Given the description of an element on the screen output the (x, y) to click on. 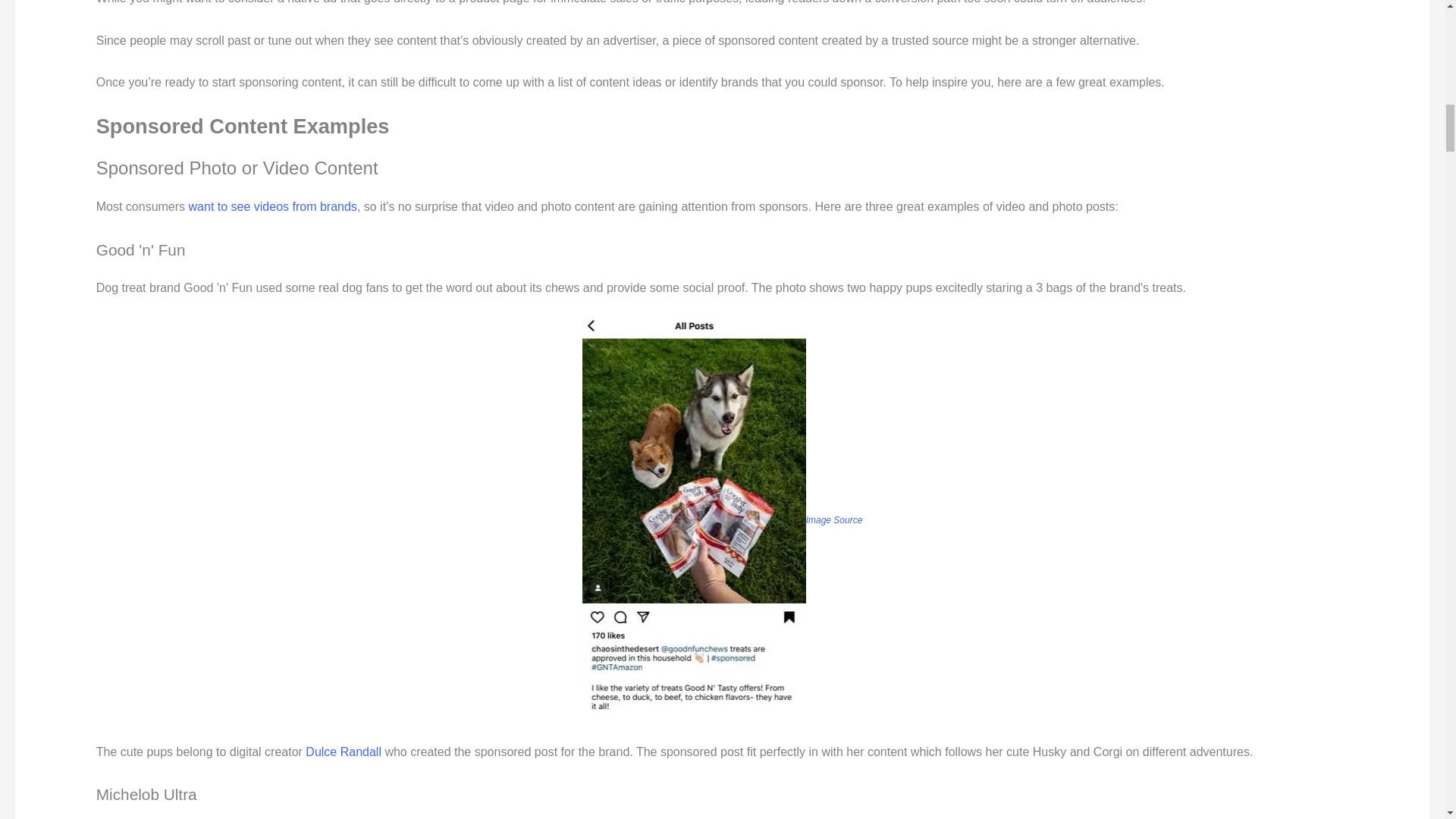
Image Source (834, 520)
want to see videos from brands (272, 205)
Dulce Randall (343, 751)
